Given the description of an element on the screen output the (x, y) to click on. 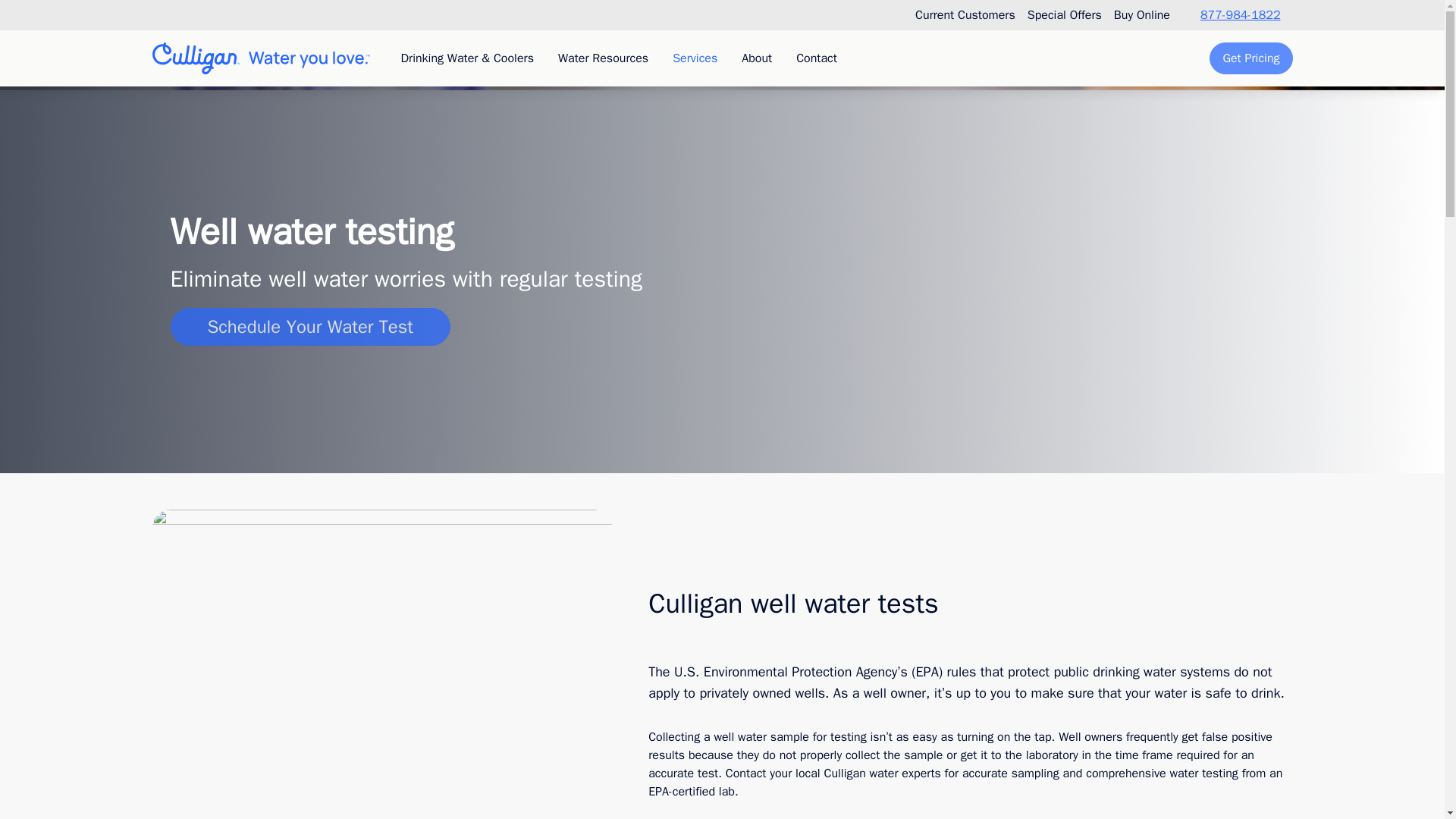
Get Pricing (1250, 58)
Contact (816, 58)
Services (695, 58)
About (756, 58)
Special Offers (1064, 15)
877-984-1822 (1237, 15)
Water Resources (603, 58)
Buy Online (1141, 15)
Schedule Your Water Test (309, 326)
Current Customers (964, 15)
